Given the description of an element on the screen output the (x, y) to click on. 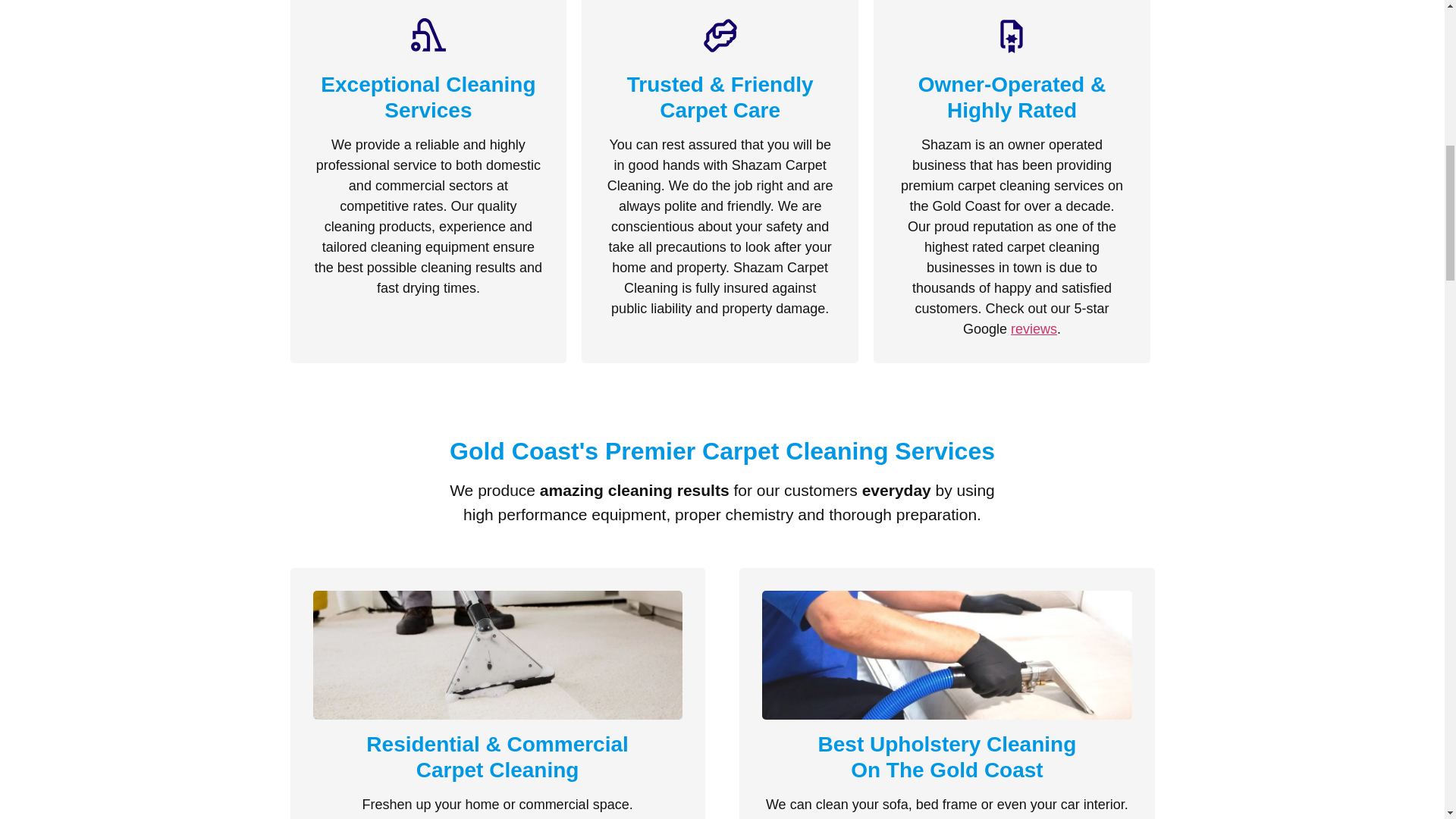
reviews (1033, 328)
